Given the description of an element on the screen output the (x, y) to click on. 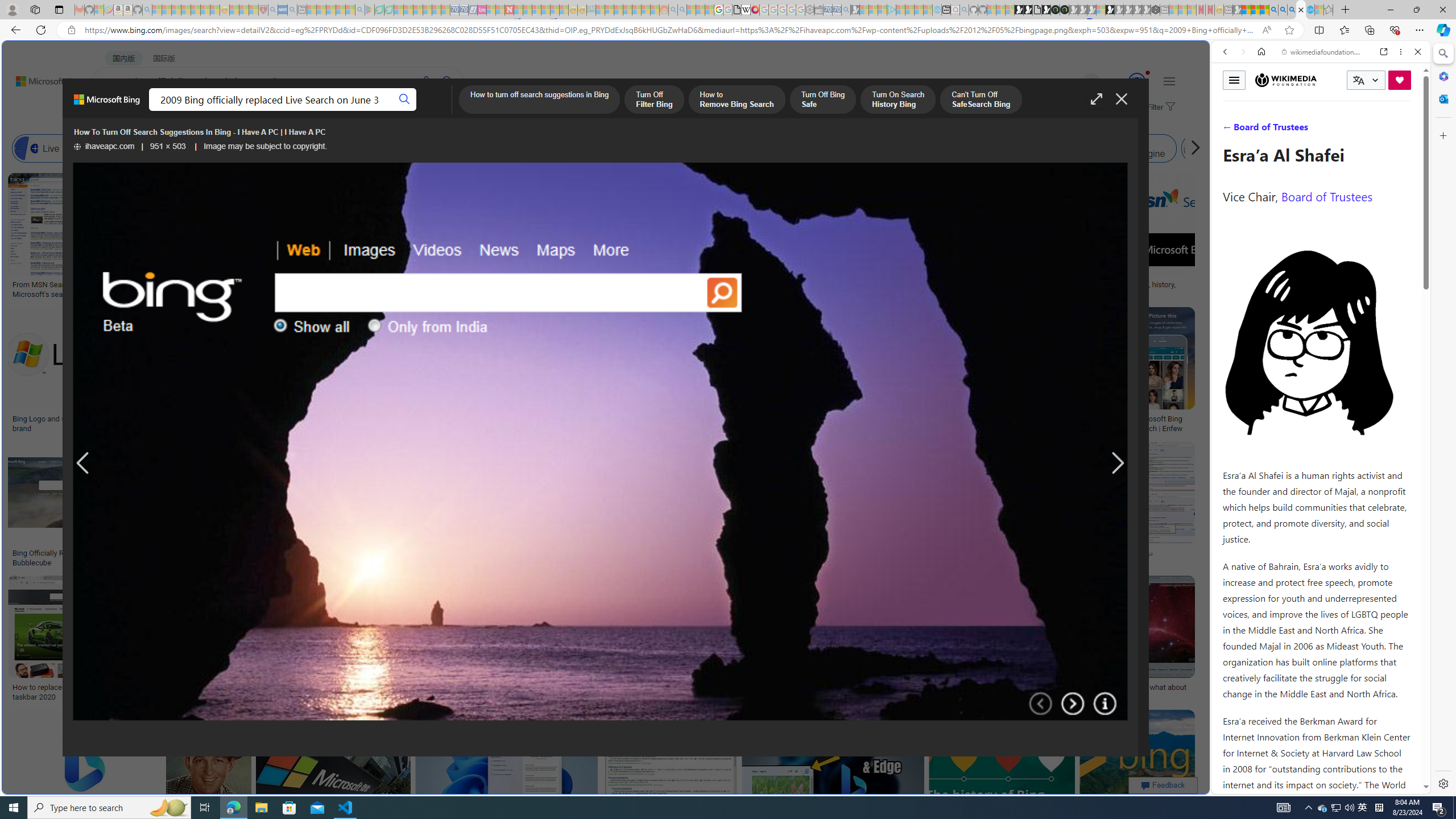
google_privacy_policy_zh-CN.pdf (1118, 683)
IMAGES (1262, 130)
Back to Bing search (41, 78)
Close split screen (1208, 57)
Microsoft Bing, Back to Bing search (106, 104)
Bing Logo and symbol, meaning, history, PNG, brandSave (98, 371)
ACADEMIC (360, 111)
Sign in to your account - Sleeping (1100, 9)
